Given the description of an element on the screen output the (x, y) to click on. 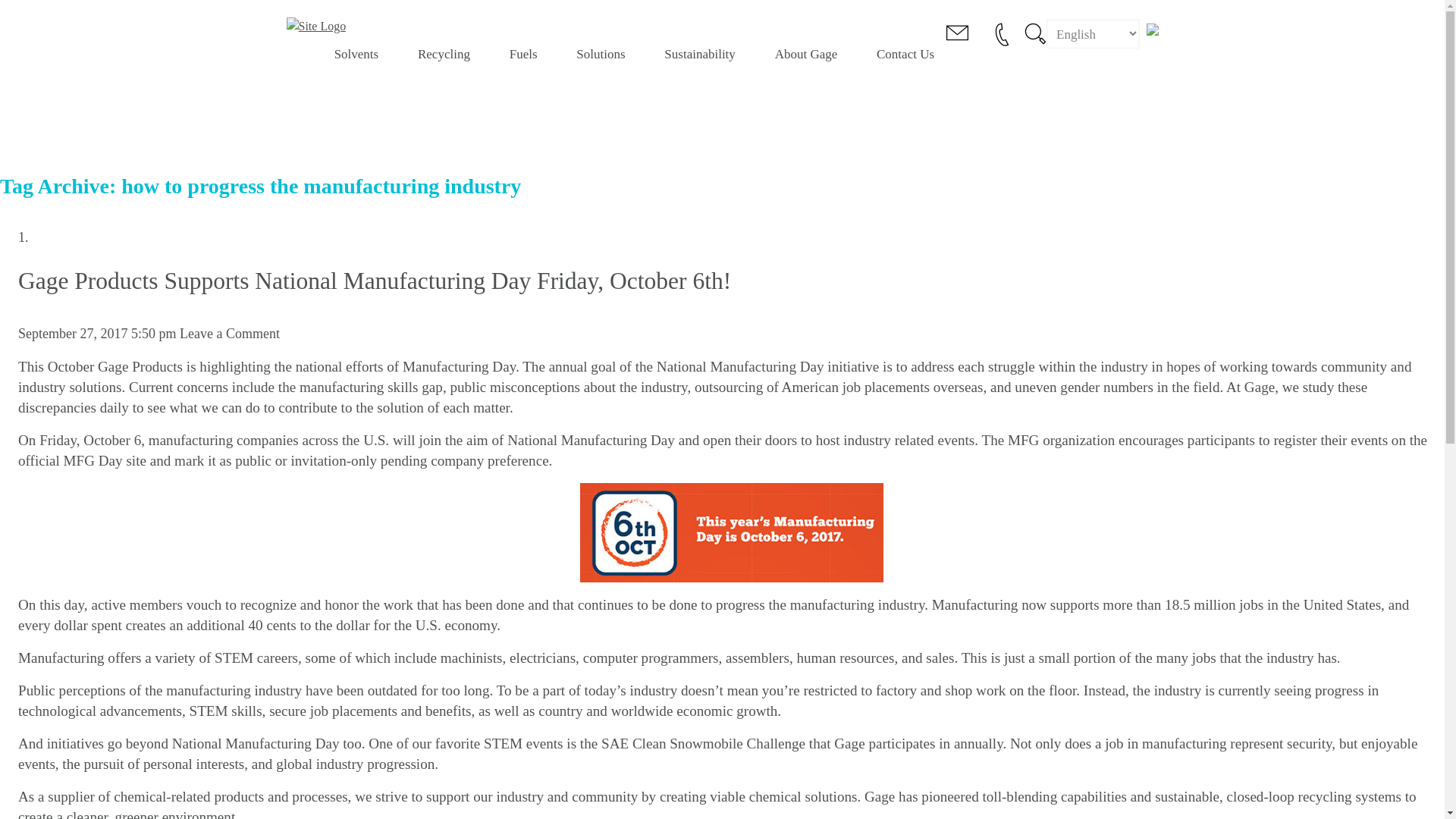
Solutions (600, 54)
Solvents (355, 54)
Fuels (522, 54)
Sustainability (699, 54)
Recycling (443, 54)
